Given the description of an element on the screen output the (x, y) to click on. 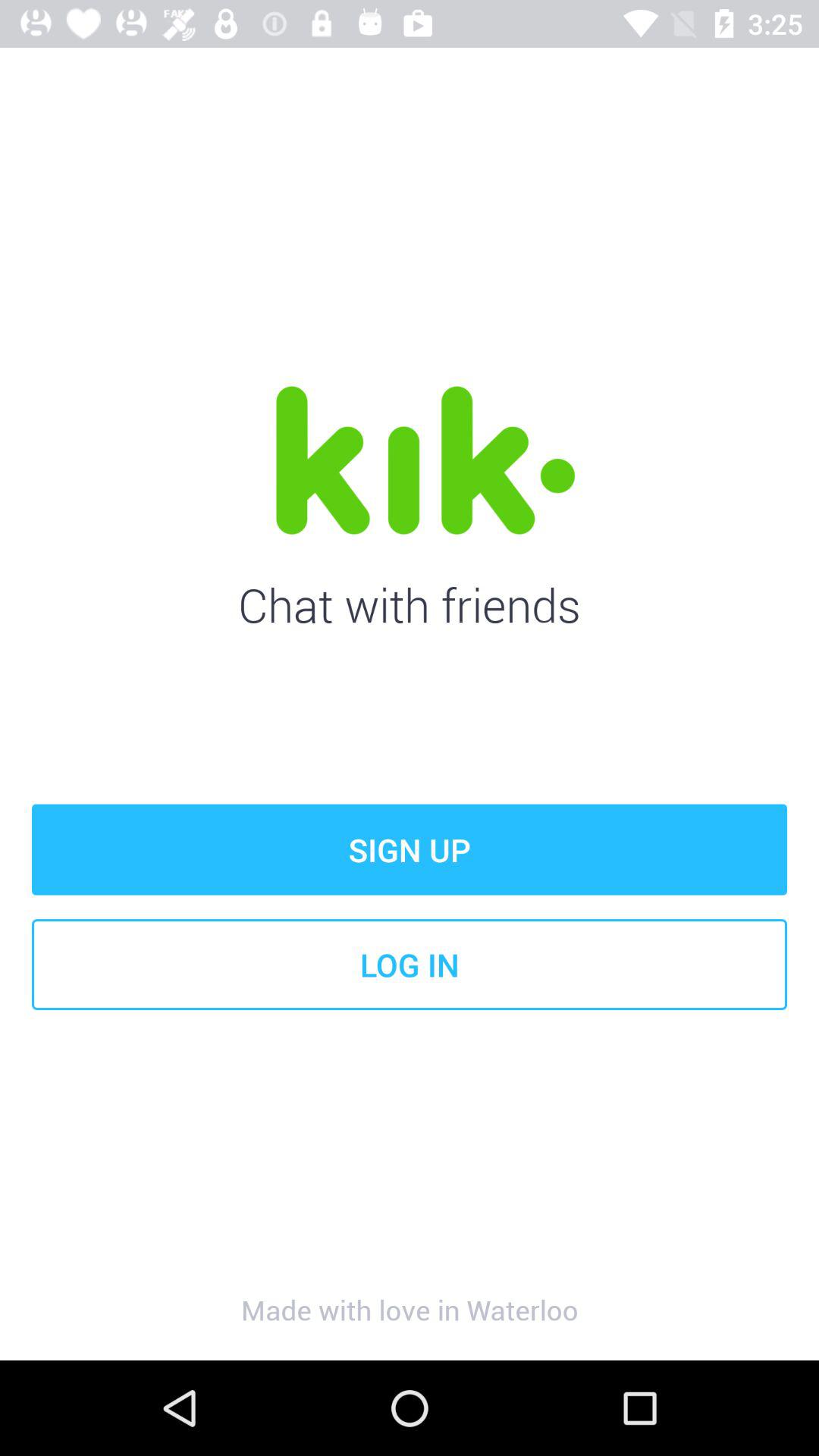
turn on item above the made with love icon (409, 964)
